Given the description of an element on the screen output the (x, y) to click on. 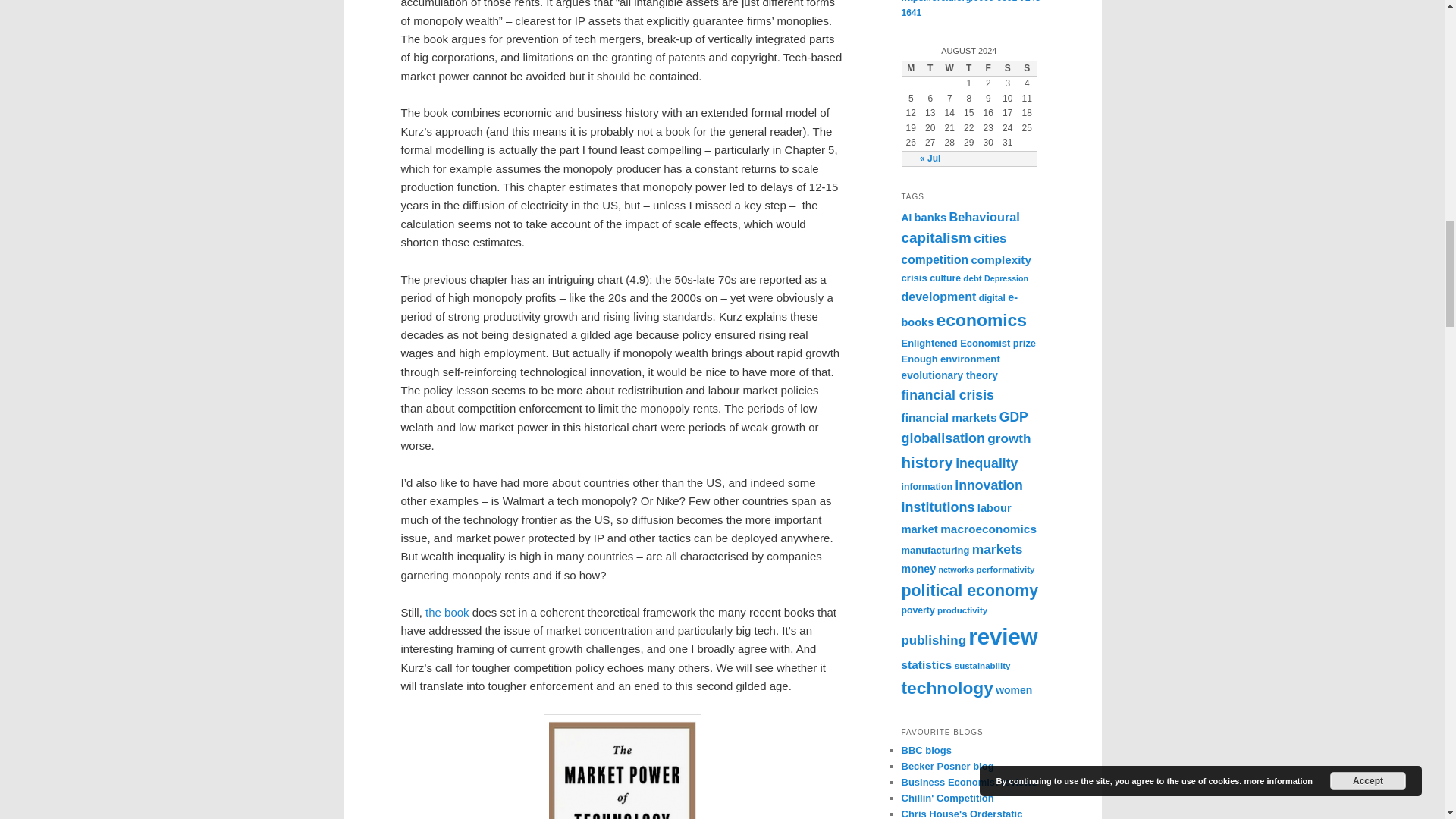
Tuesday (930, 68)
Monday (910, 68)
the book (446, 612)
